Given the description of an element on the screen output the (x, y) to click on. 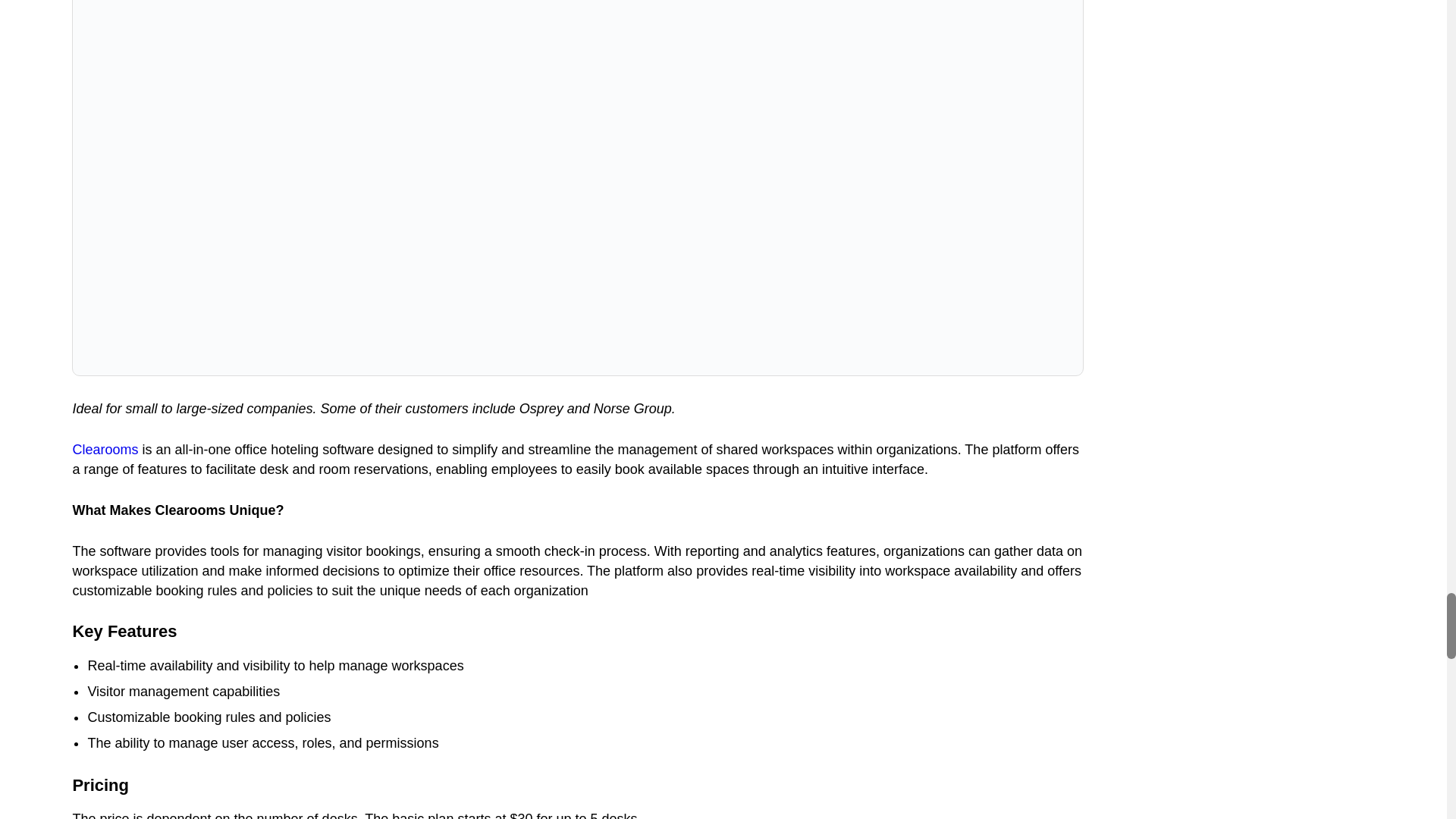
Clearooms (104, 449)
